Given the description of an element on the screen output the (x, y) to click on. 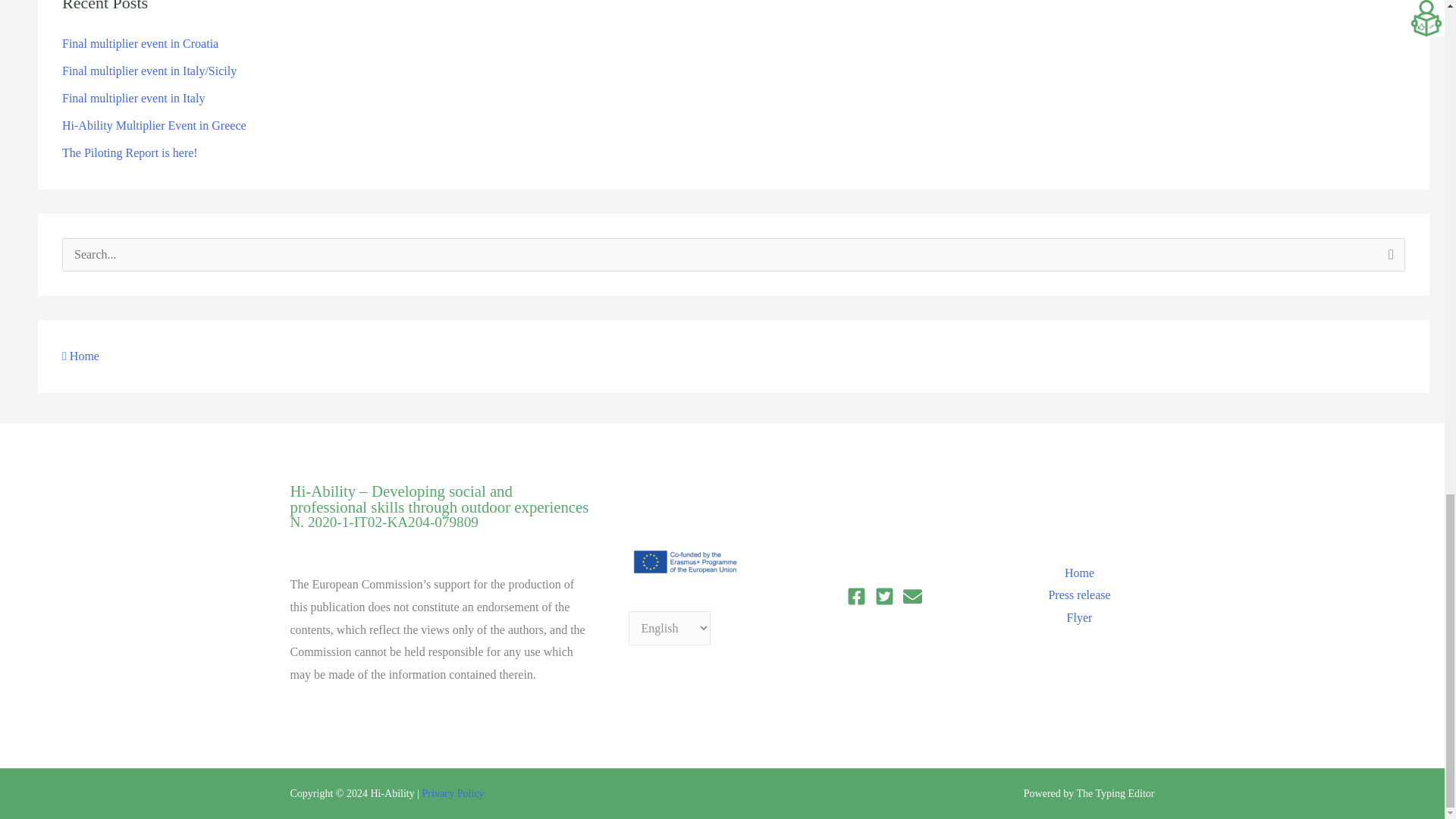
Search (1388, 259)
Hi-Ability Multiplier Event in Greece (154, 124)
Final multiplier event in Croatia (140, 42)
Search (1388, 259)
Final multiplier event in Italy (133, 97)
